Given the description of an element on the screen output the (x, y) to click on. 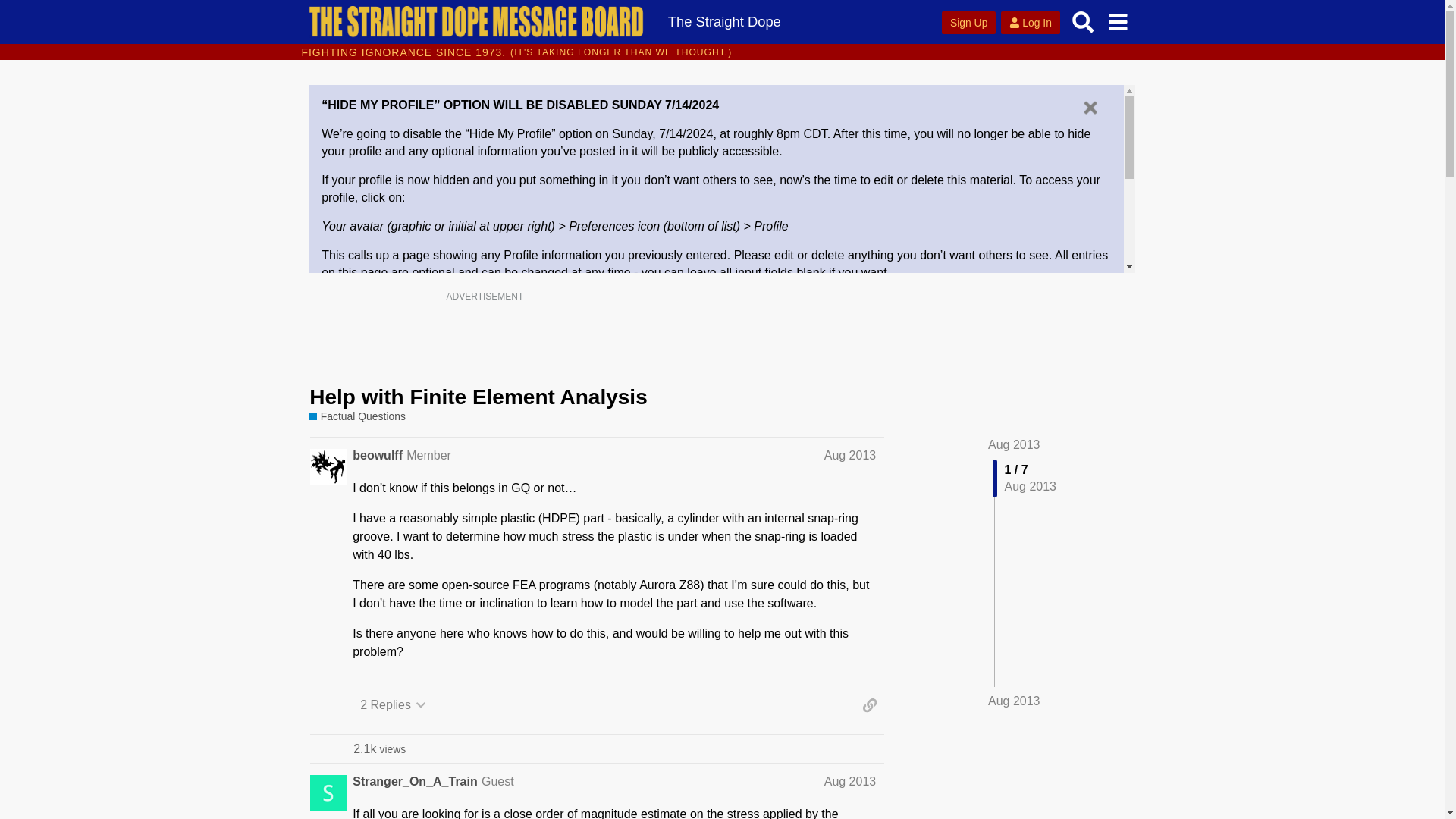
Jump to the first post (1014, 444)
beowulff (379, 748)
Guest (377, 455)
Dismiss this banner (497, 780)
Help with Finite Element Analysis (1090, 107)
The Straight Dope (477, 396)
Post date (724, 22)
We plan to disable "Hide my profile" option (850, 454)
Sign Up (476, 339)
